Given the description of an element on the screen output the (x, y) to click on. 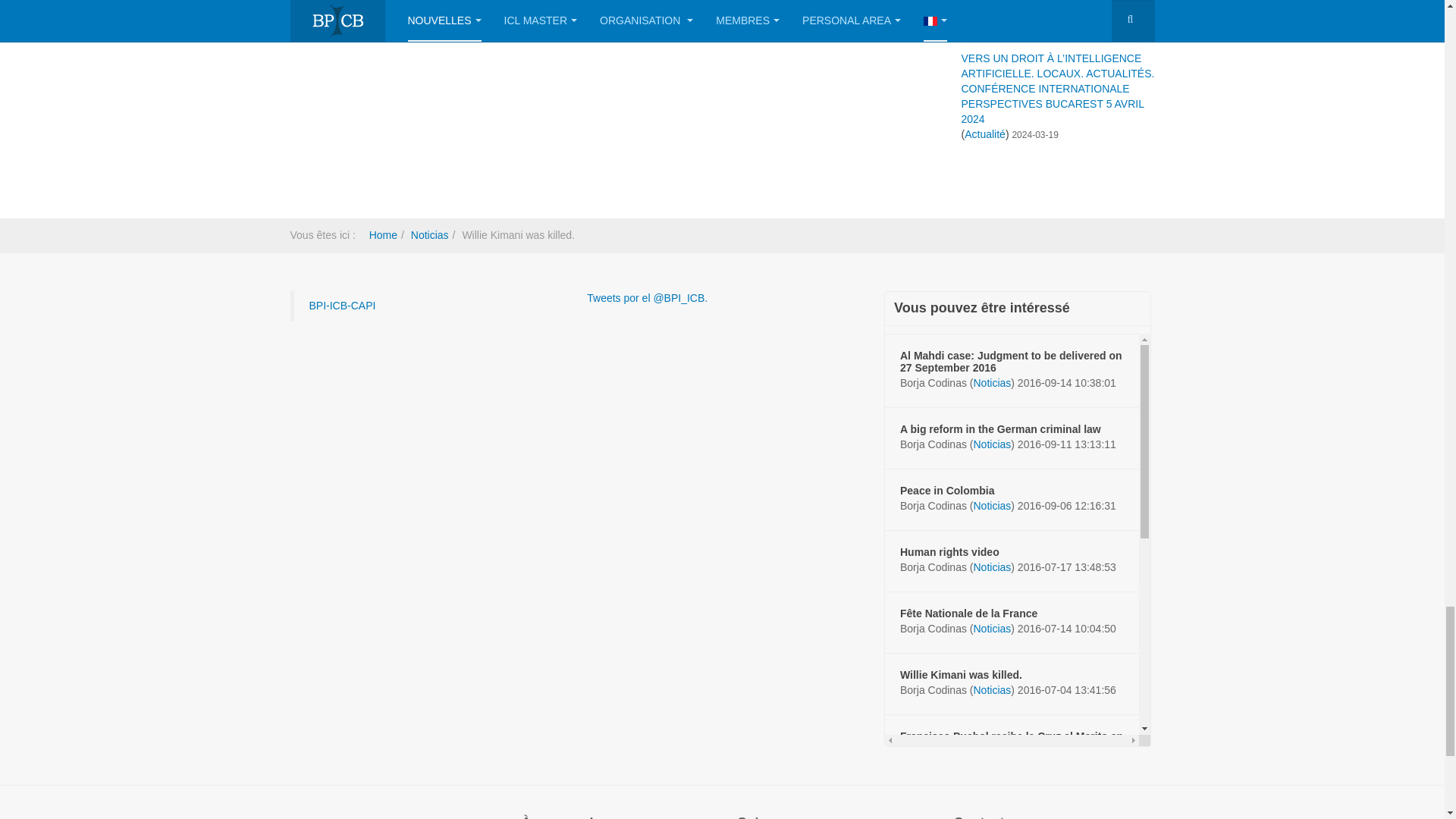
Back to Top (1415, 269)
